Given the description of an element on the screen output the (x, y) to click on. 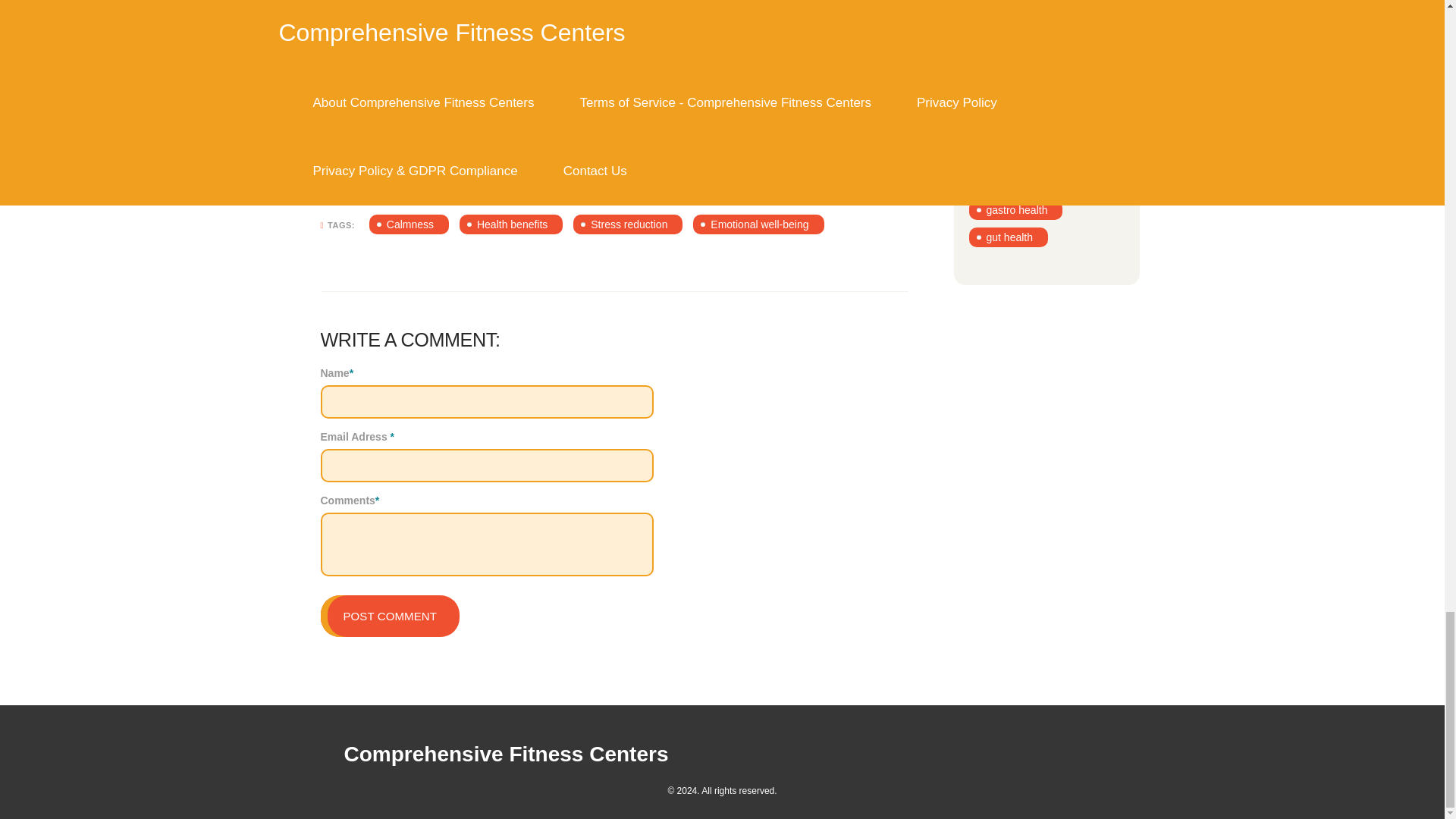
Stress reduction (627, 224)
POST COMMENT (389, 616)
Calmness (408, 224)
Health benefits (511, 224)
Emotional well-being (758, 224)
